Given the description of an element on the screen output the (x, y) to click on. 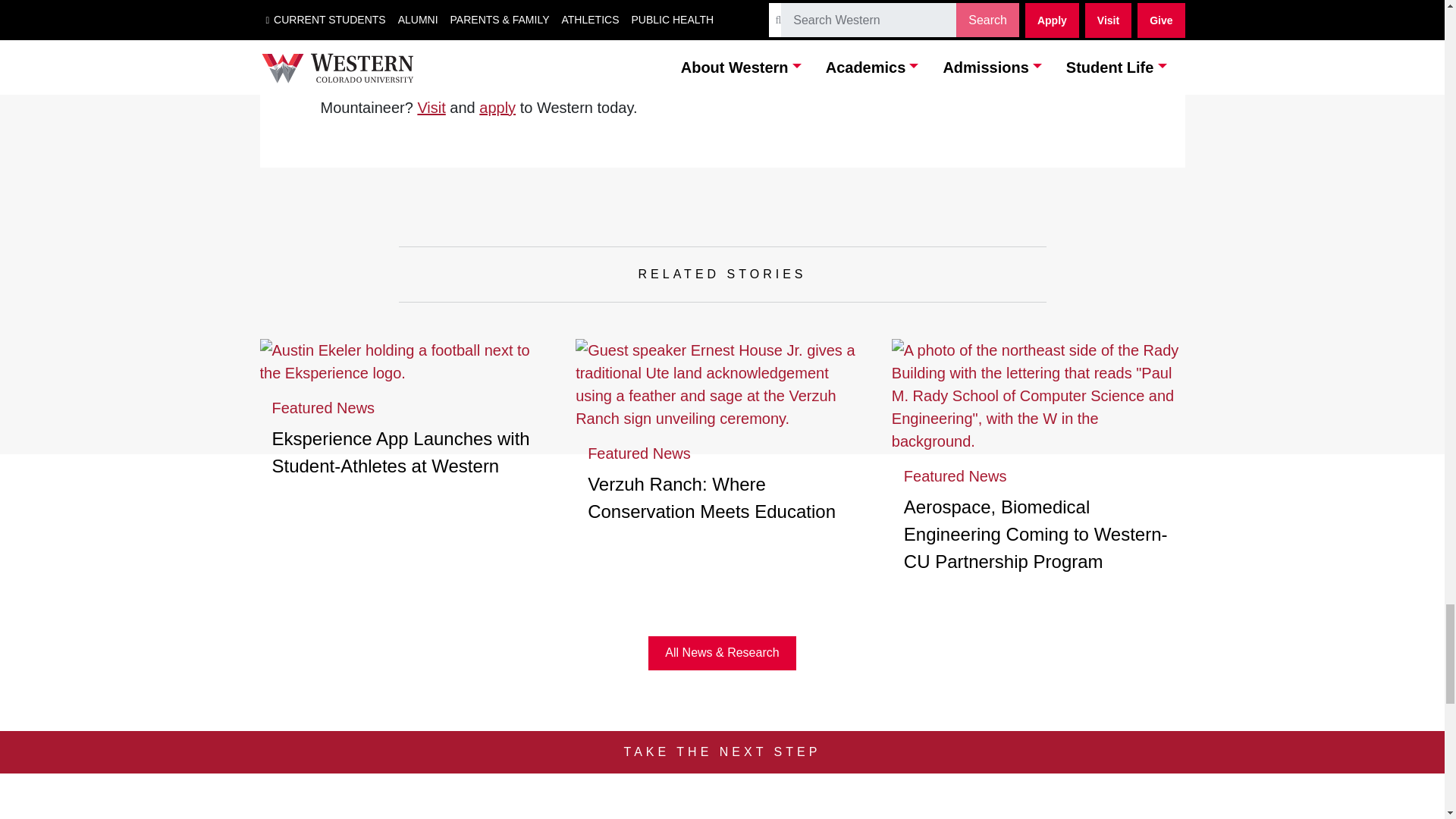
Verzuh Ranch: Where Conservation Meets Education (711, 497)
Eksperience App Launches with Student-Athletes at Western (399, 451)
